Given the description of an element on the screen output the (x, y) to click on. 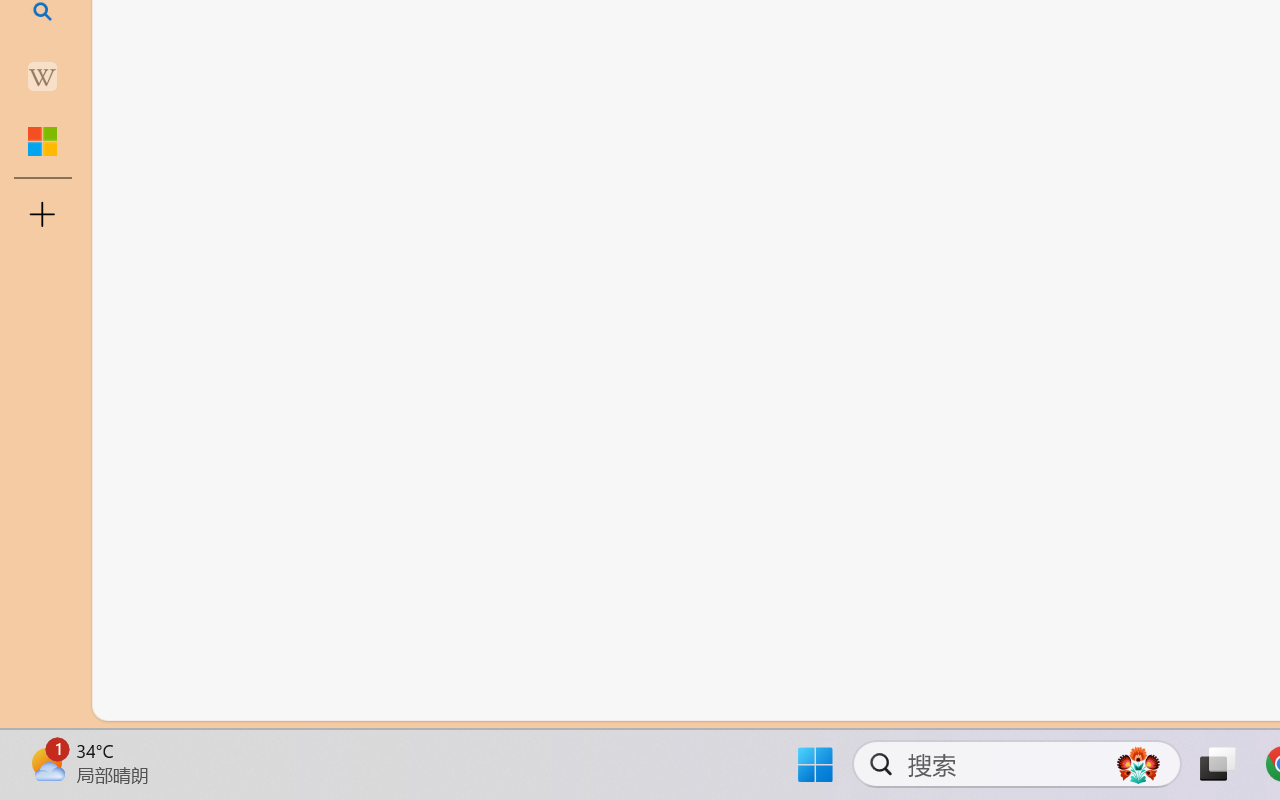
Timeline Section (331, 658)
Outline Section (331, 619)
Forwarded Ports: 36301, 47065, 38781, 45817, 50331 (308, 698)
No Problems (212, 698)
Accounts - Sign in requested (135, 548)
